Given the description of an element on the screen output the (x, y) to click on. 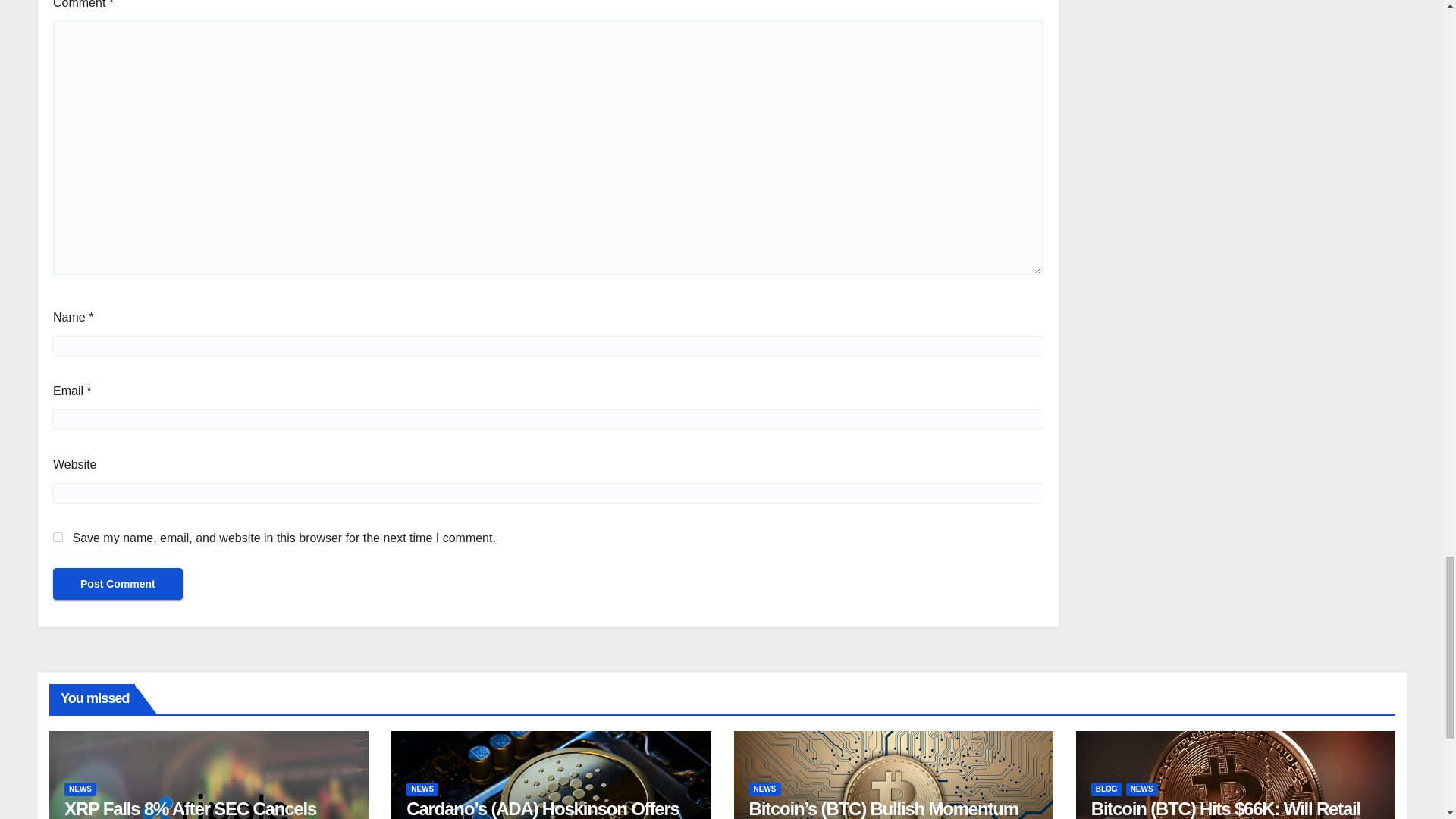
Post Comment (117, 583)
yes (57, 537)
